Given the description of an element on the screen output the (x, y) to click on. 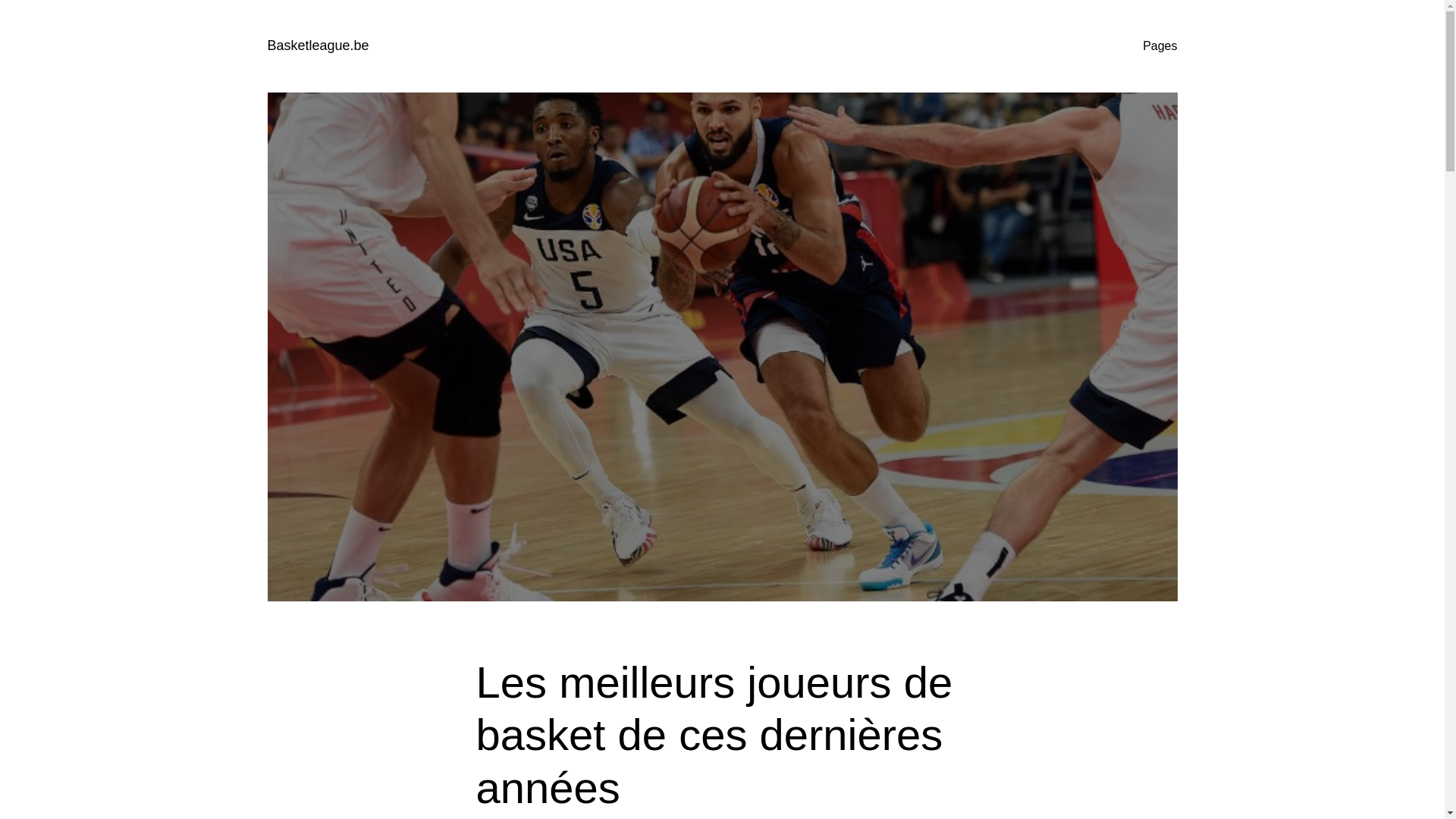
Pages Element type: text (1159, 46)
Basketleague.be Element type: text (317, 45)
